Given the description of an element on the screen output the (x, y) to click on. 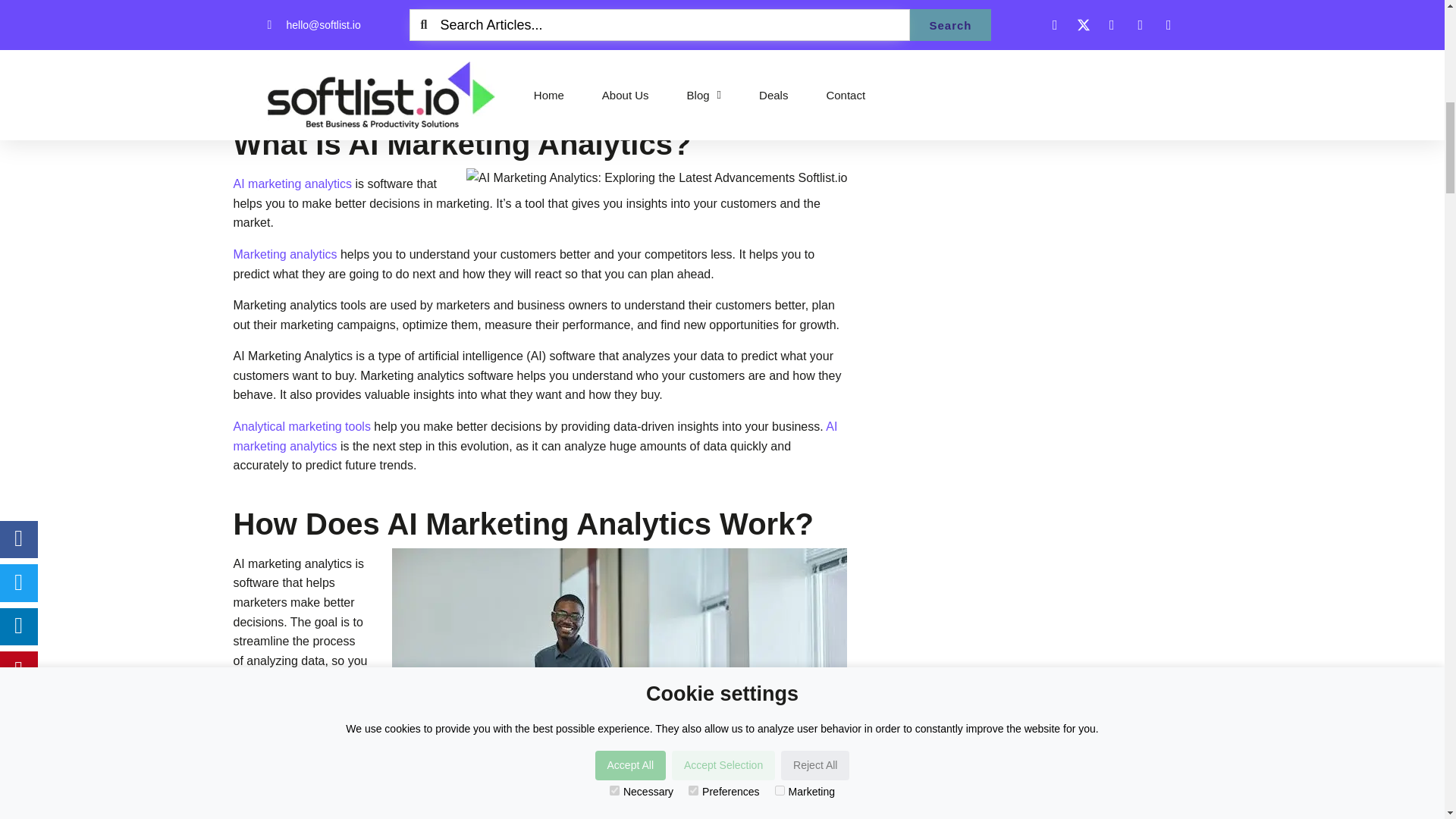
AI Marketing Analytics: Exploring the Latest Advancements 1 (656, 178)
AI Marketing Analytics: Exploring the Latest Advancements 2 (619, 683)
